Given the description of an element on the screen output the (x, y) to click on. 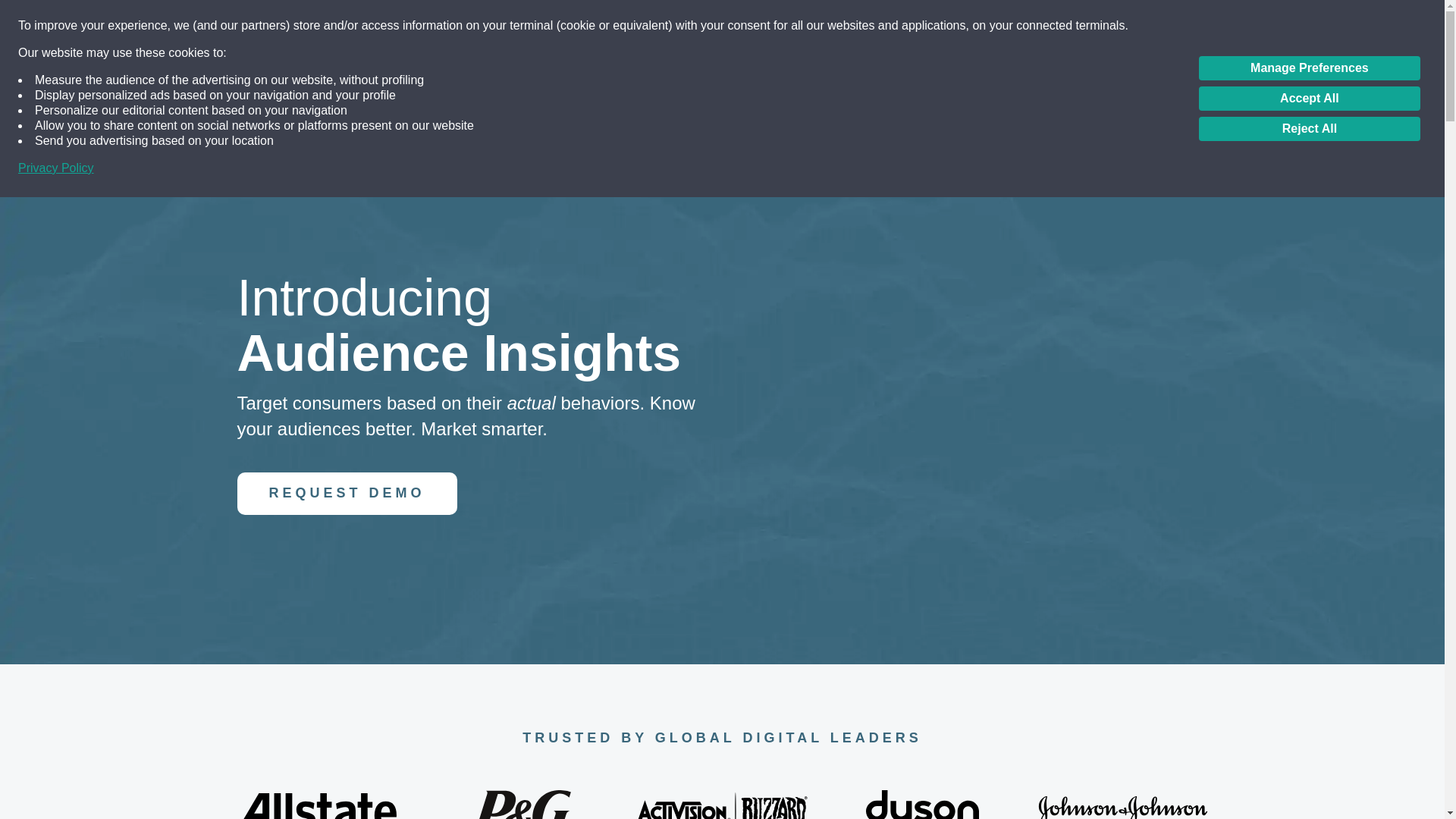
Products (790, 24)
Reject All (1309, 128)
Privacy Policy (55, 168)
Company (1016, 24)
Resources (930, 24)
Manage Preferences (1309, 68)
Solutions (709, 24)
Blog (857, 24)
Accept All (1309, 98)
